Given the description of an element on the screen output the (x, y) to click on. 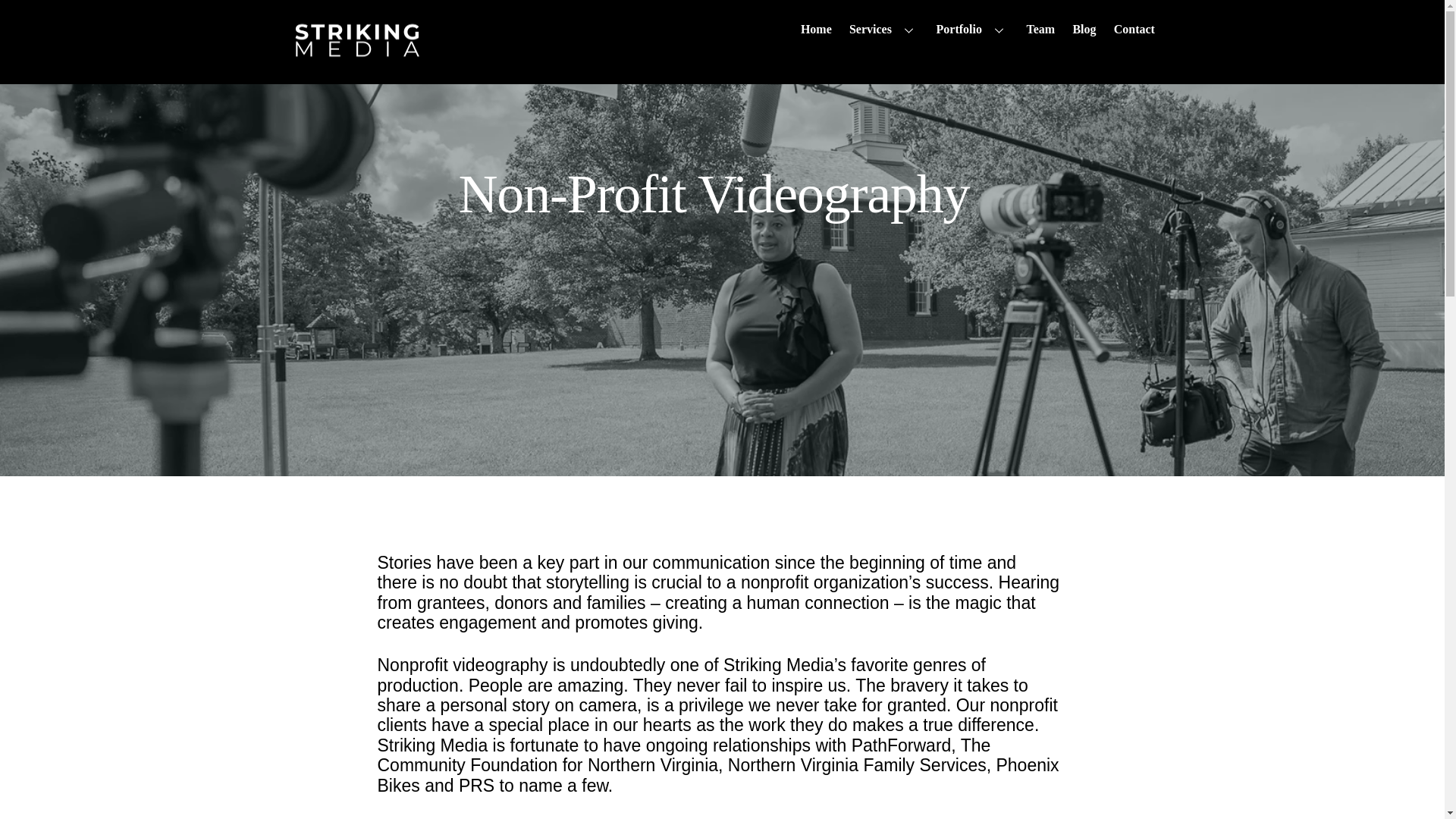
Portfolio (972, 29)
Blog (1084, 29)
Services (883, 29)
Contact (1133, 29)
Team (1040, 29)
Striking Media (357, 54)
Home (721, 29)
